Given the description of an element on the screen output the (x, y) to click on. 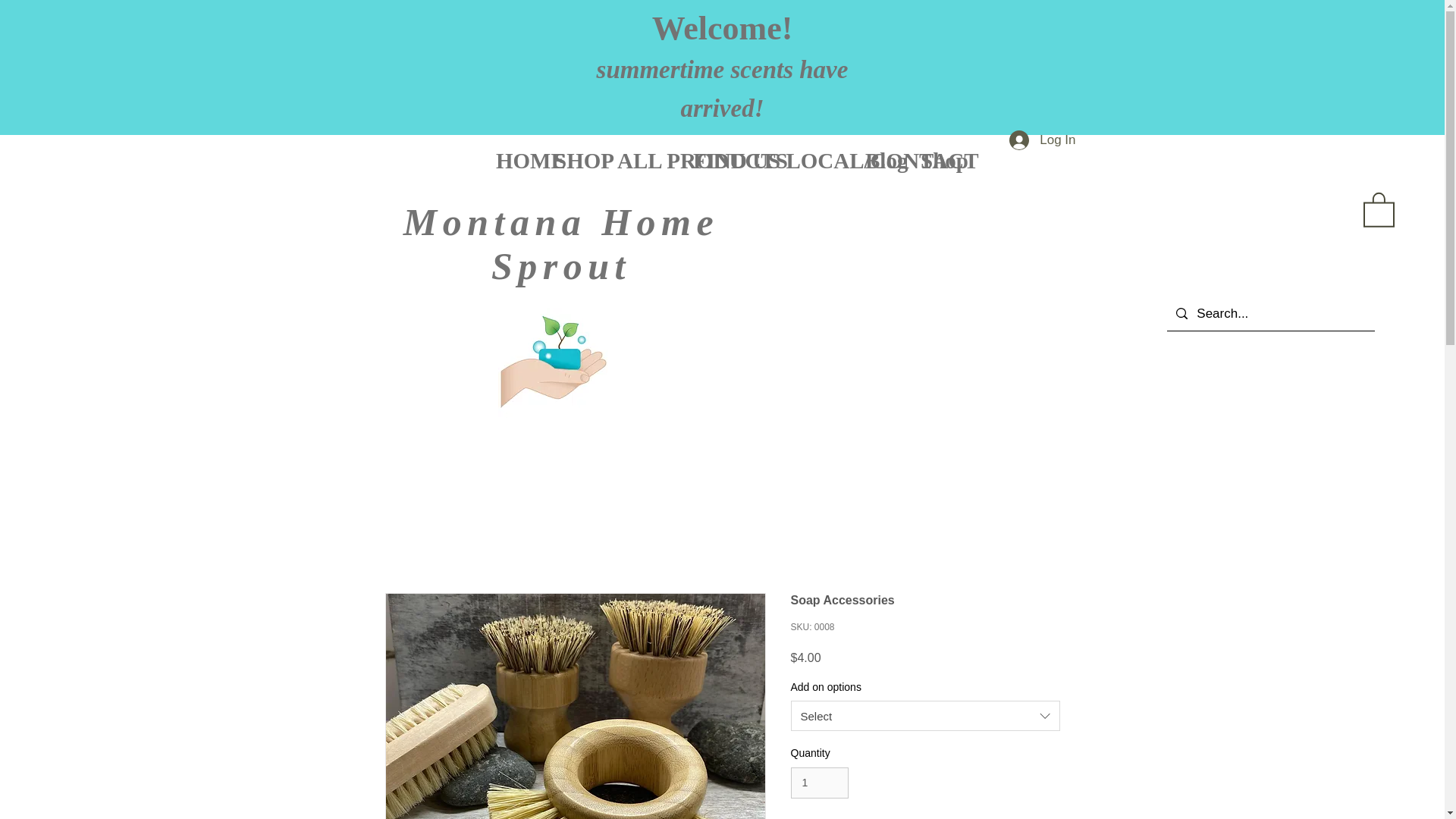
SHOP ALL PRODUCTS (609, 153)
Montana Home Sprout (561, 243)
1 (818, 782)
Blog (879, 153)
Log In (1042, 140)
Shop (934, 153)
Select (924, 716)
HOME (510, 153)
